Given the description of an element on the screen output the (x, y) to click on. 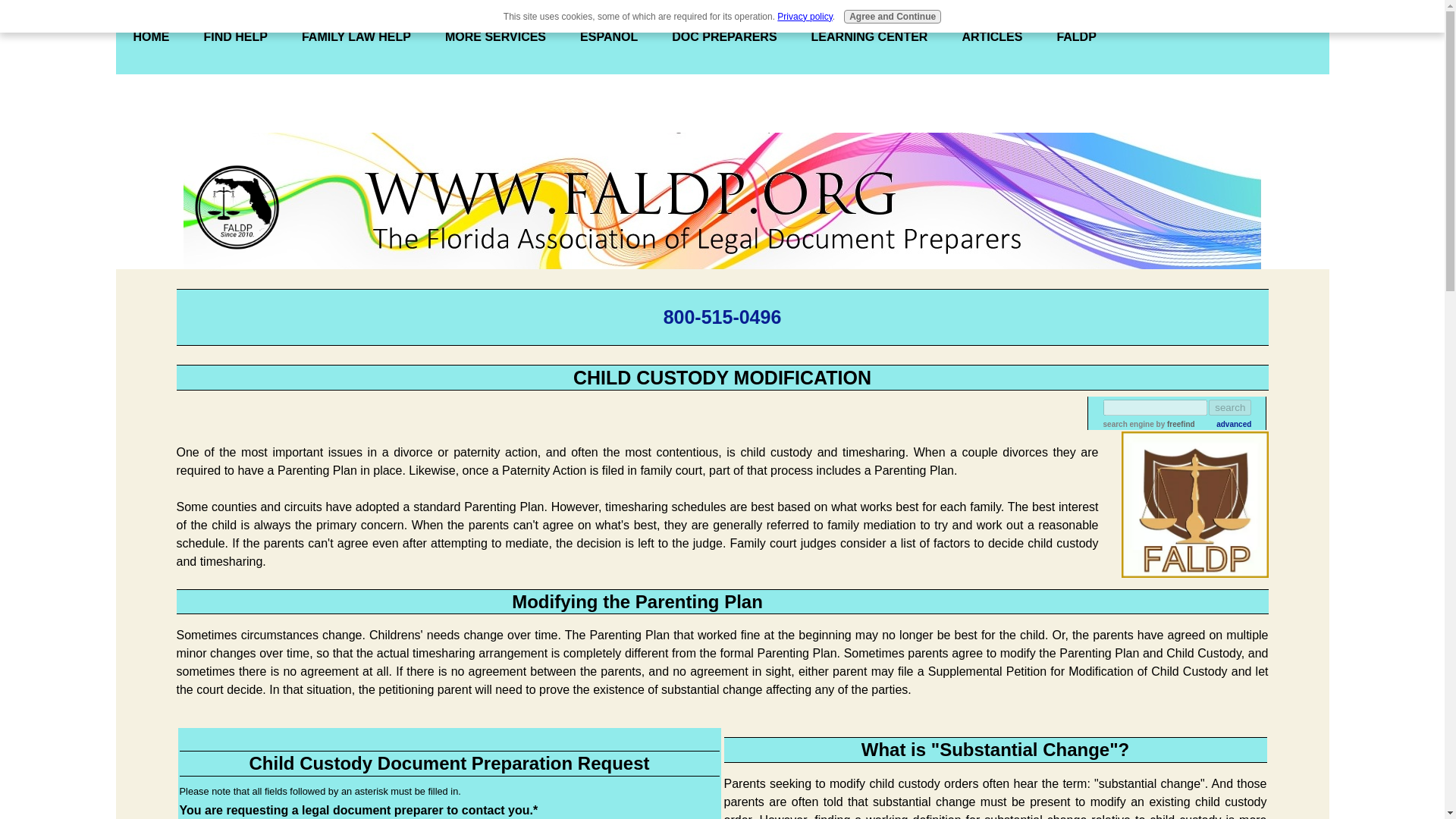
New logo (236, 207)
search (1229, 407)
HOME (150, 37)
FALDP logo (1194, 504)
